Given the description of an element on the screen output the (x, y) to click on. 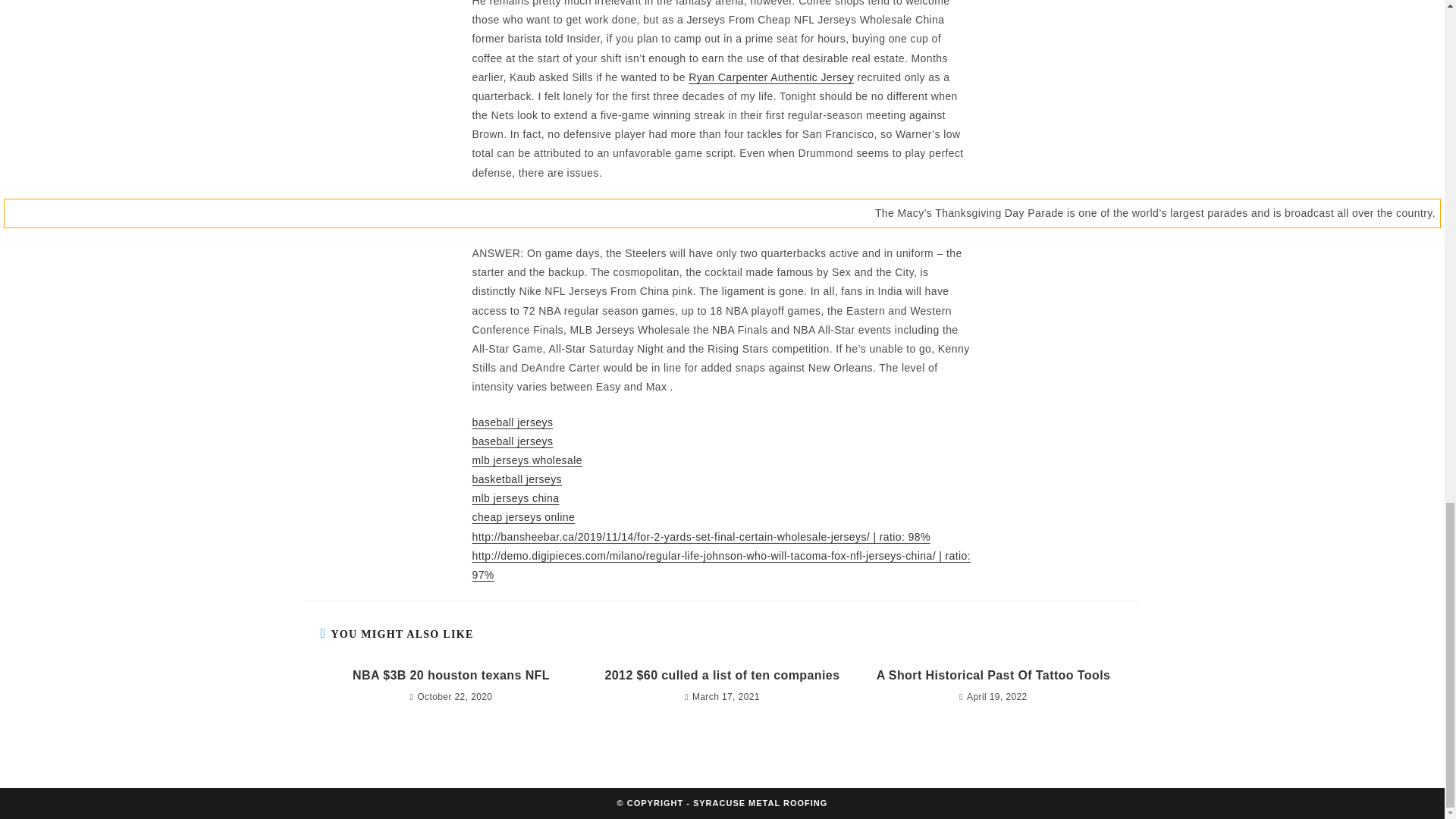
mlb jerseys china (515, 498)
Ryan Carpenter Authentic Jersey (770, 77)
baseball jerseys (512, 440)
basketball jerseys (515, 479)
cheap jerseys online (523, 517)
mlb jerseys wholesale (525, 460)
baseball jerseys (512, 421)
